Given the description of an element on the screen output the (x, y) to click on. 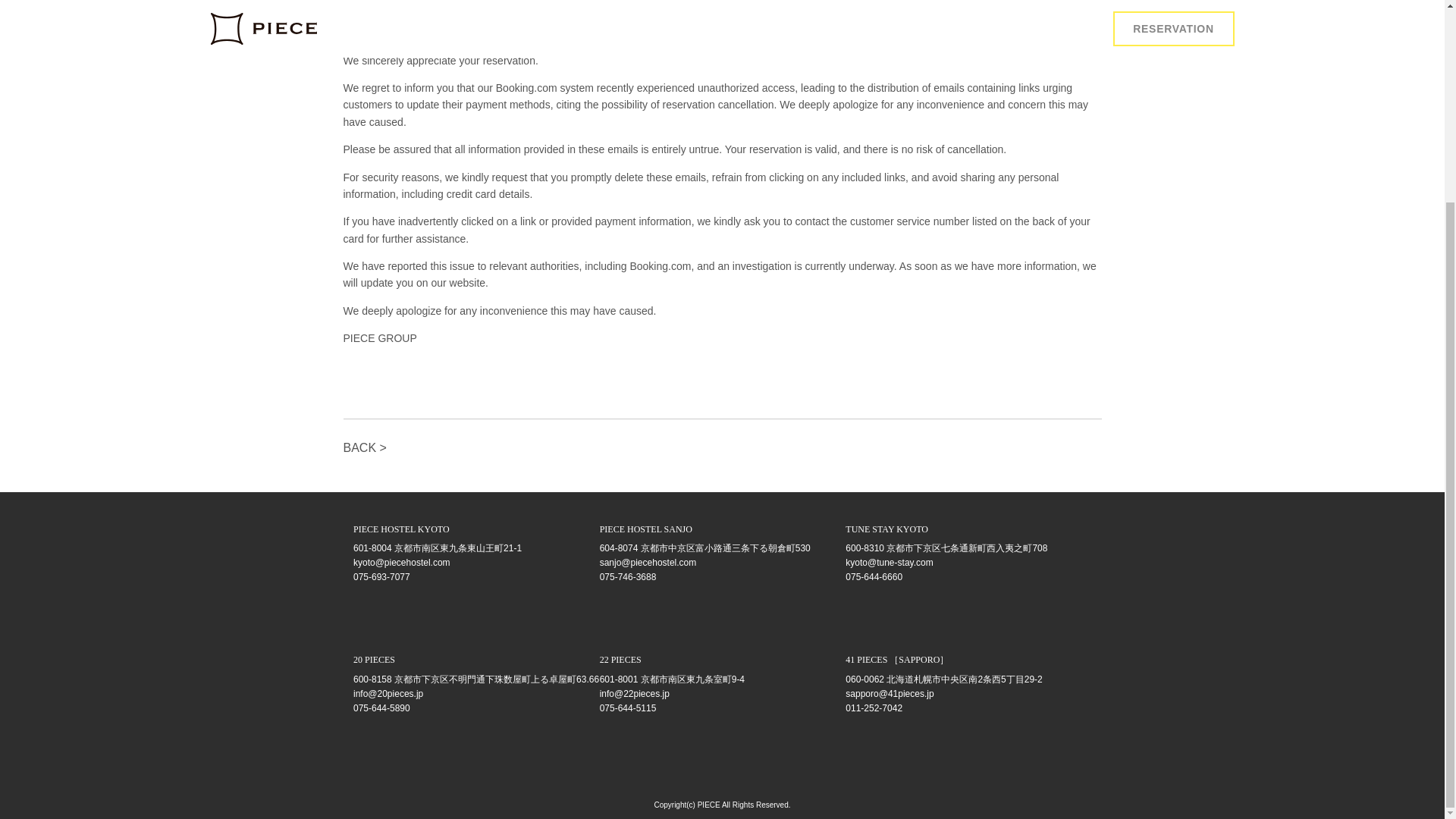
SEARCH (721, 60)
